Given the description of an element on the screen output the (x, y) to click on. 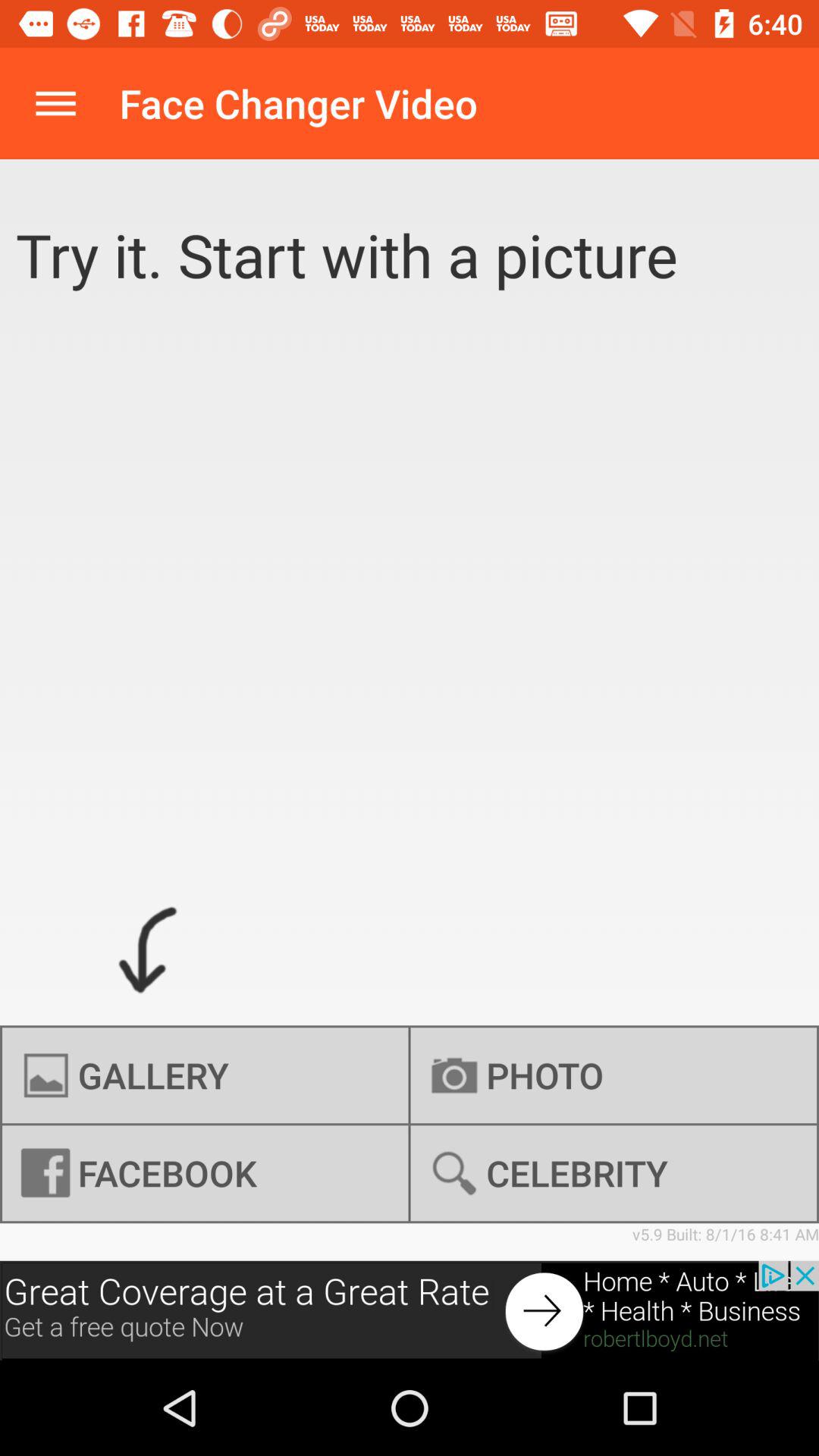
show app options (55, 103)
